Given the description of an element on the screen output the (x, y) to click on. 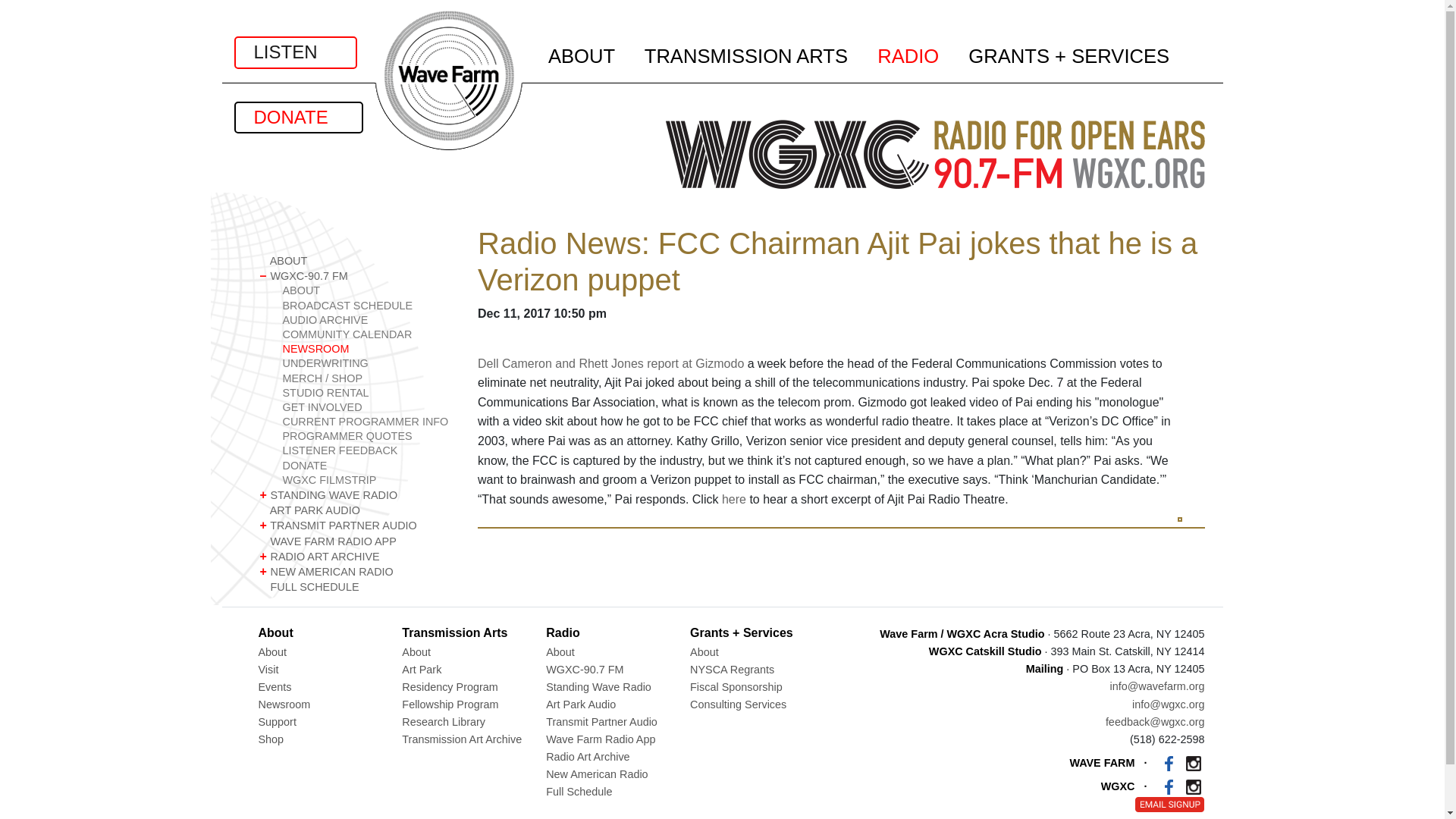
LISTEN     (294, 51)
ABOUT (367, 290)
DONATE    (297, 117)
BROADCAST SCHEDULE (367, 305)
  ABOUT (355, 260)
